Given the description of an element on the screen output the (x, y) to click on. 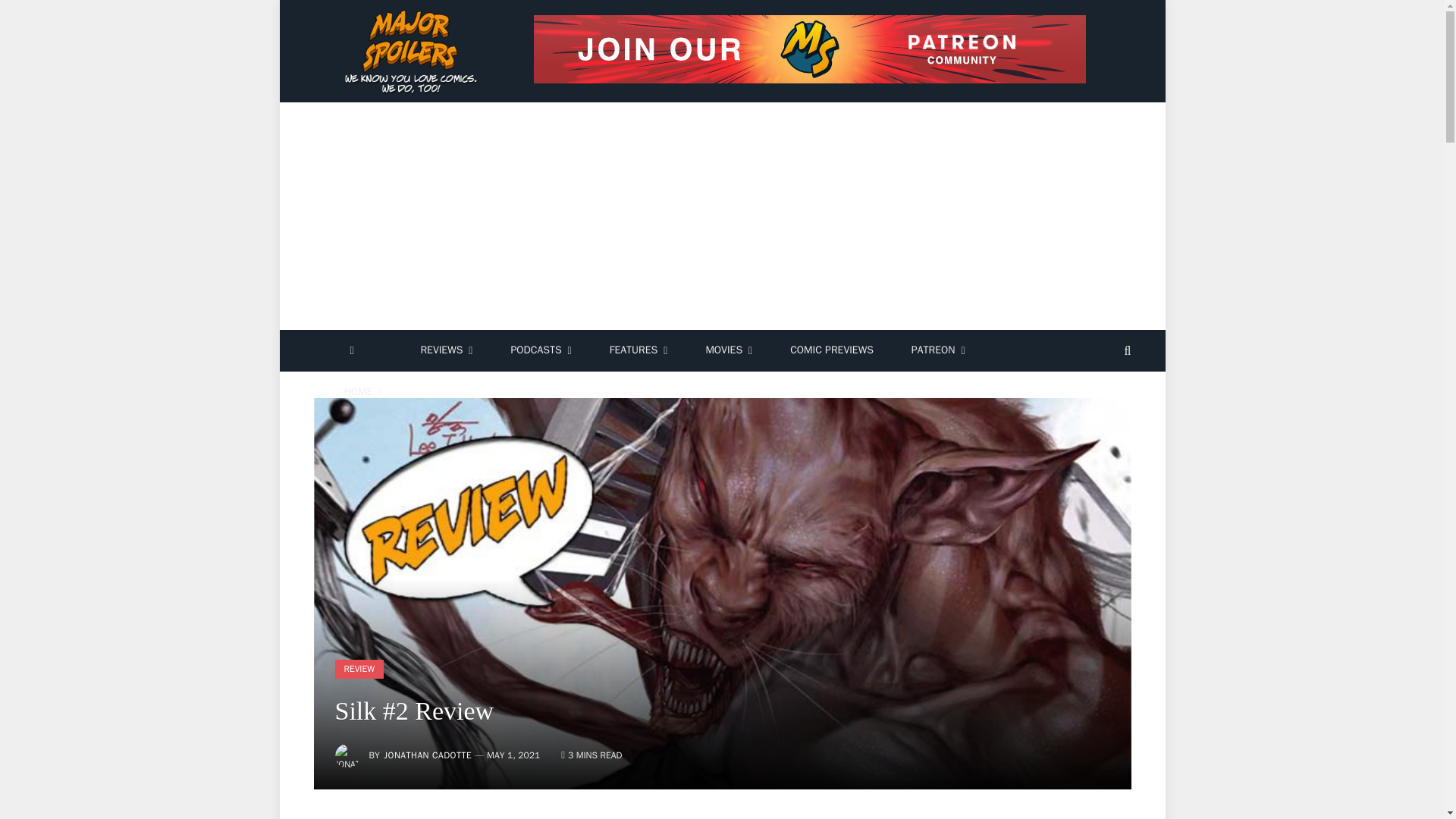
HOME (362, 392)
Major Spoilers (412, 51)
Posts by Jonathan Cadotte (427, 755)
REVIEWS (446, 350)
PODCASTS (540, 350)
